Given the description of an element on the screen output the (x, y) to click on. 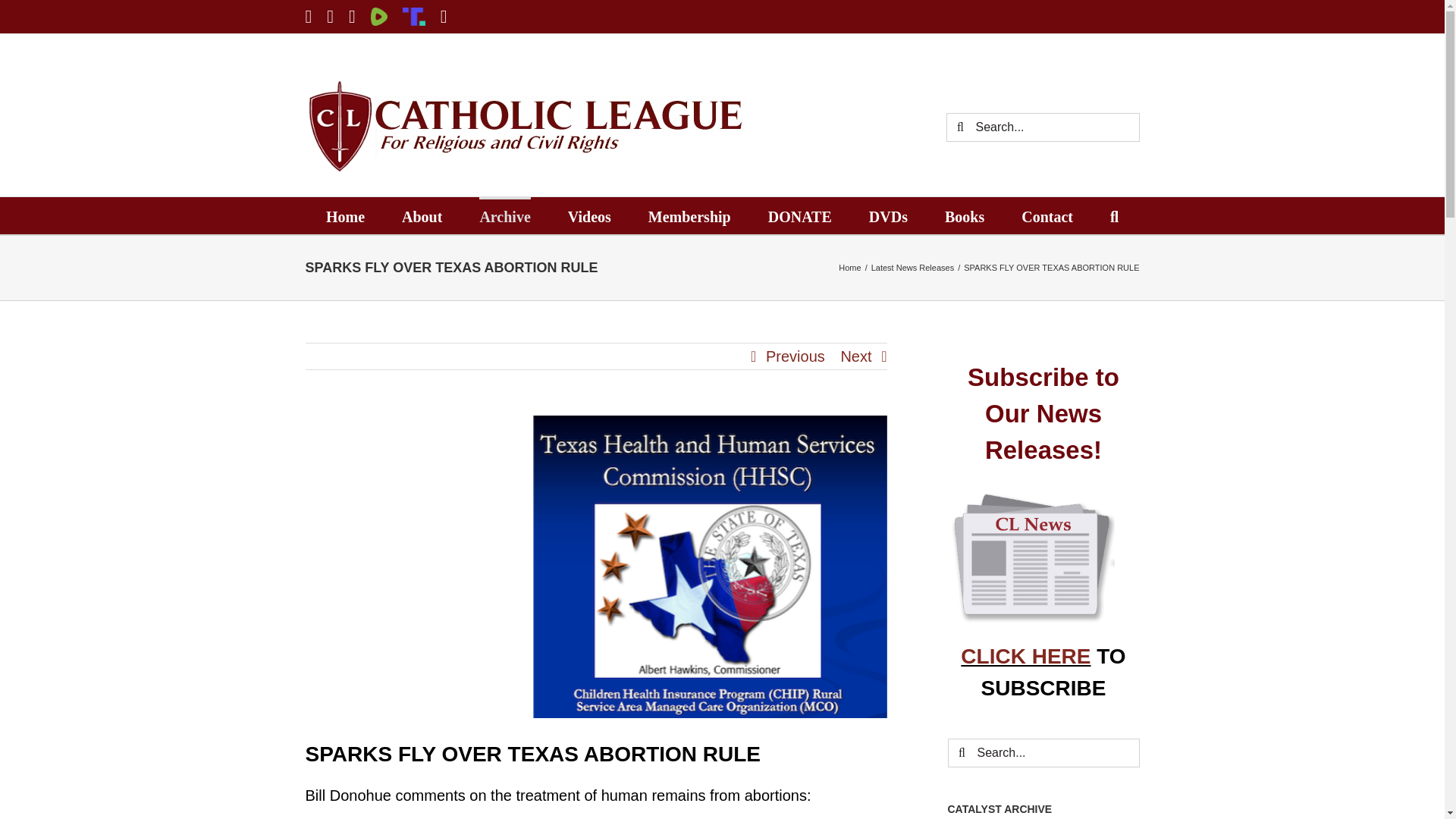
DONATE (799, 215)
Home (345, 215)
Archive (504, 215)
Contact (1047, 215)
Rumble (379, 16)
Videos (589, 215)
About (421, 215)
Truth Social (414, 16)
DVDs (888, 215)
Books (964, 215)
Membership (688, 215)
